Given the description of an element on the screen output the (x, y) to click on. 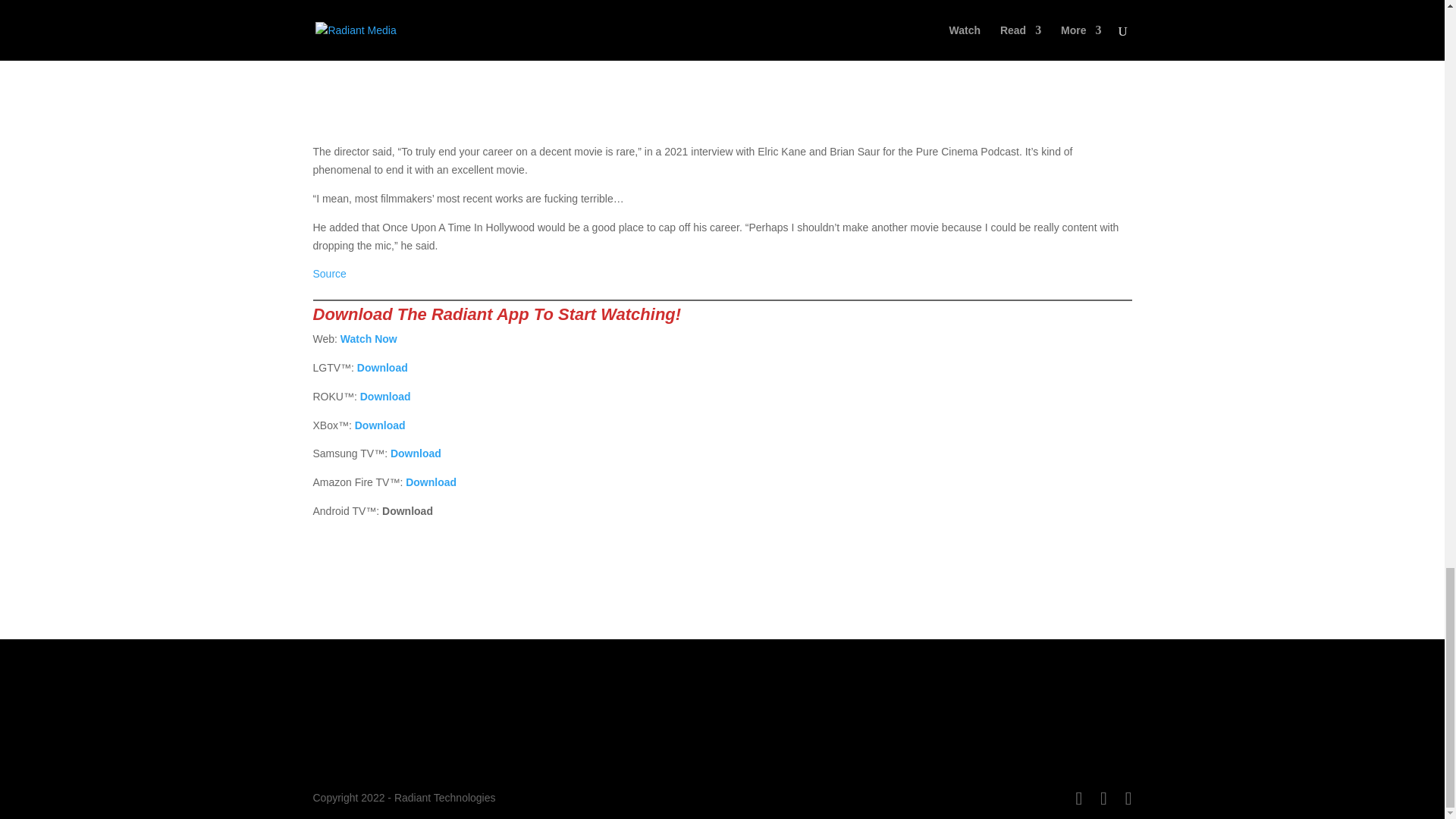
Download (384, 396)
Download (415, 453)
Watch Now (368, 338)
Download (431, 481)
Download (381, 367)
Download (380, 425)
Source (329, 273)
